Given the description of an element on the screen output the (x, y) to click on. 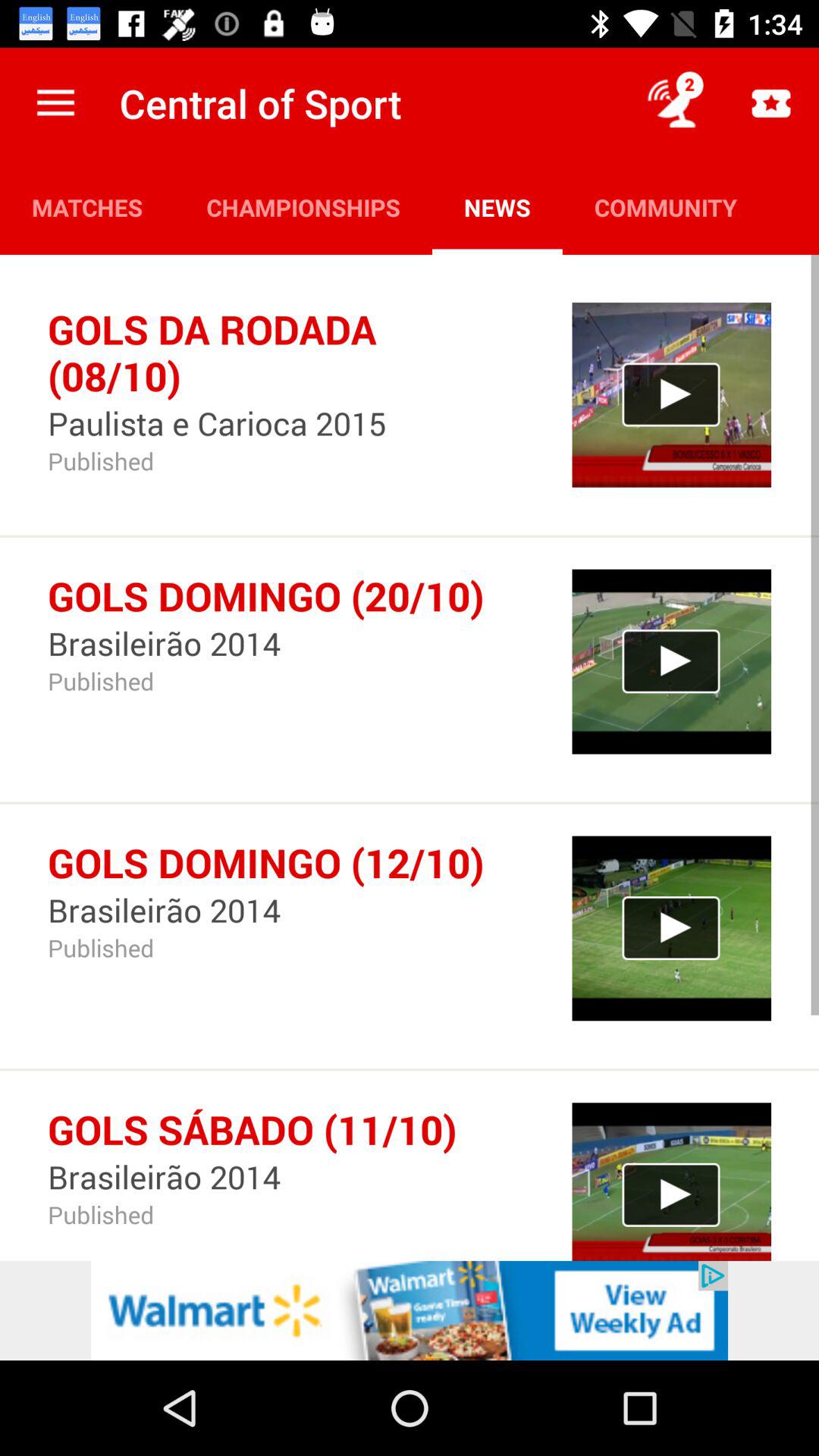
go to the advertisement page (409, 1310)
